Given the description of an element on the screen output the (x, y) to click on. 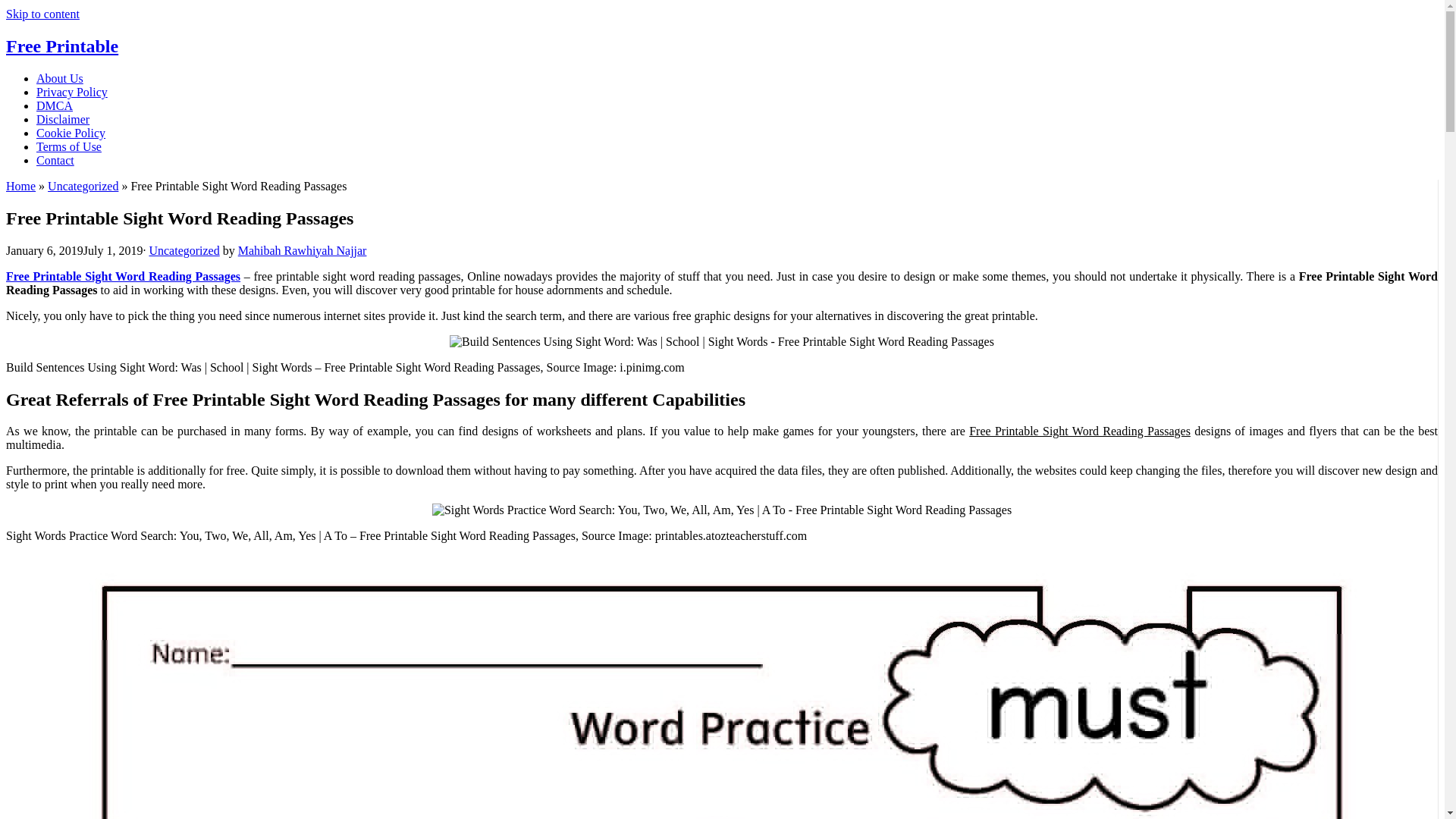
Privacy Policy (71, 91)
Home (19, 185)
Free Printable Sight Word Reading Passages (122, 276)
Disclaimer (62, 119)
DMCA (54, 105)
Mahibah Rawhiyah Najjar (302, 250)
About Us (59, 78)
Uncategorized (82, 185)
Terms of Use (68, 146)
